Given the description of an element on the screen output the (x, y) to click on. 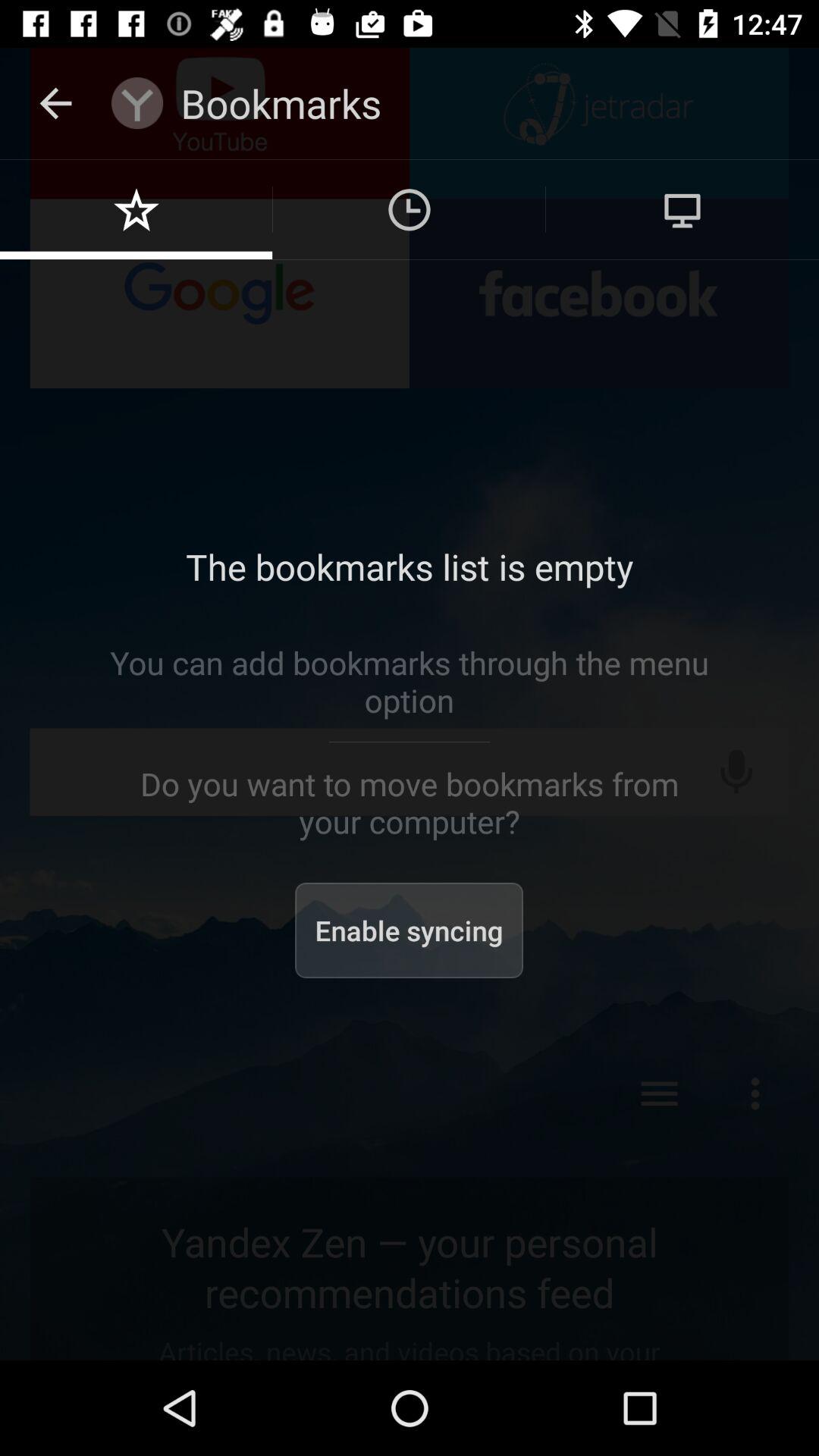
click the icon at the top right corner (682, 209)
